Given the description of an element on the screen output the (x, y) to click on. 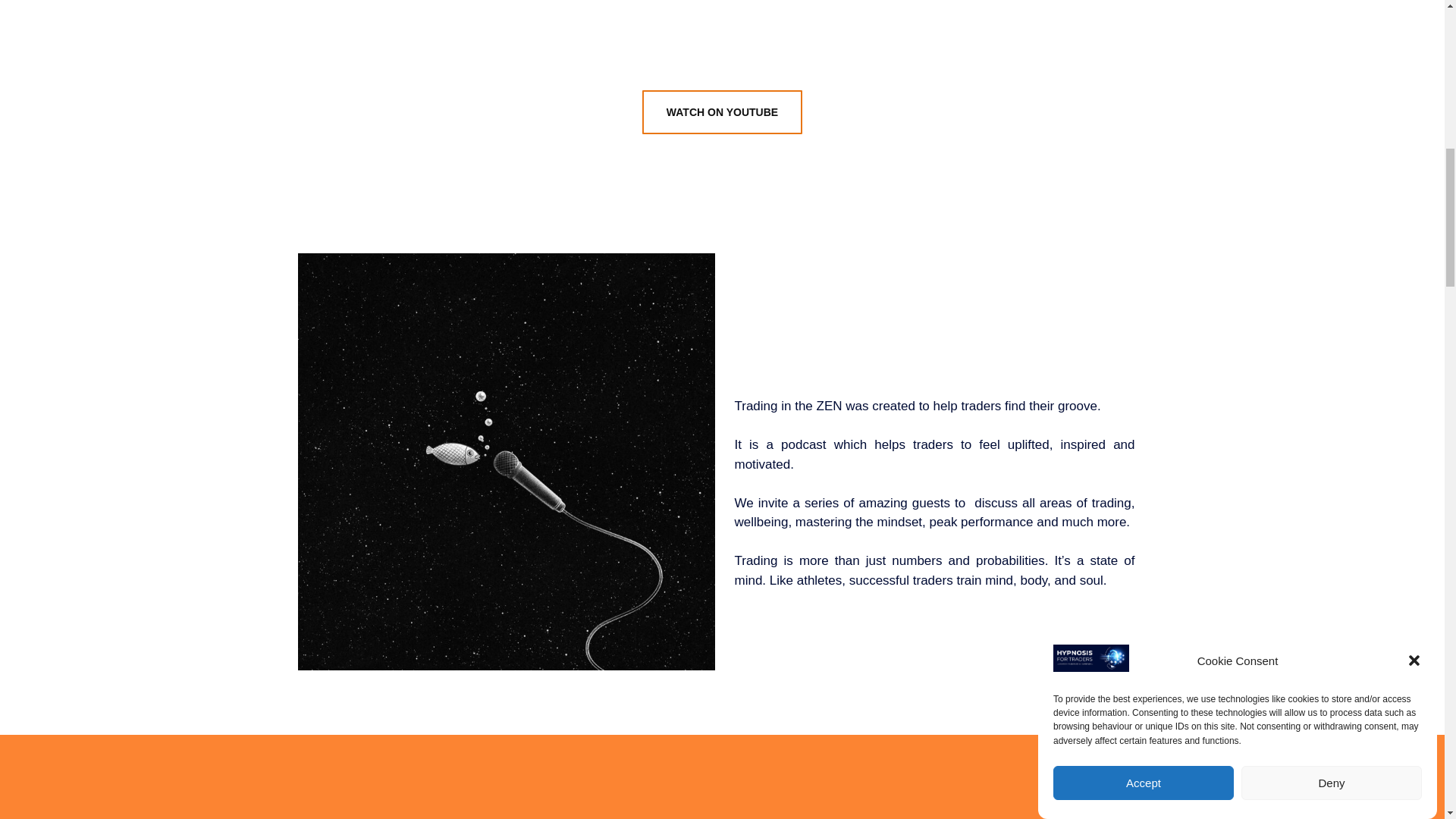
Accept (1142, 149)
Deny (1331, 125)
